Given the description of an element on the screen output the (x, y) to click on. 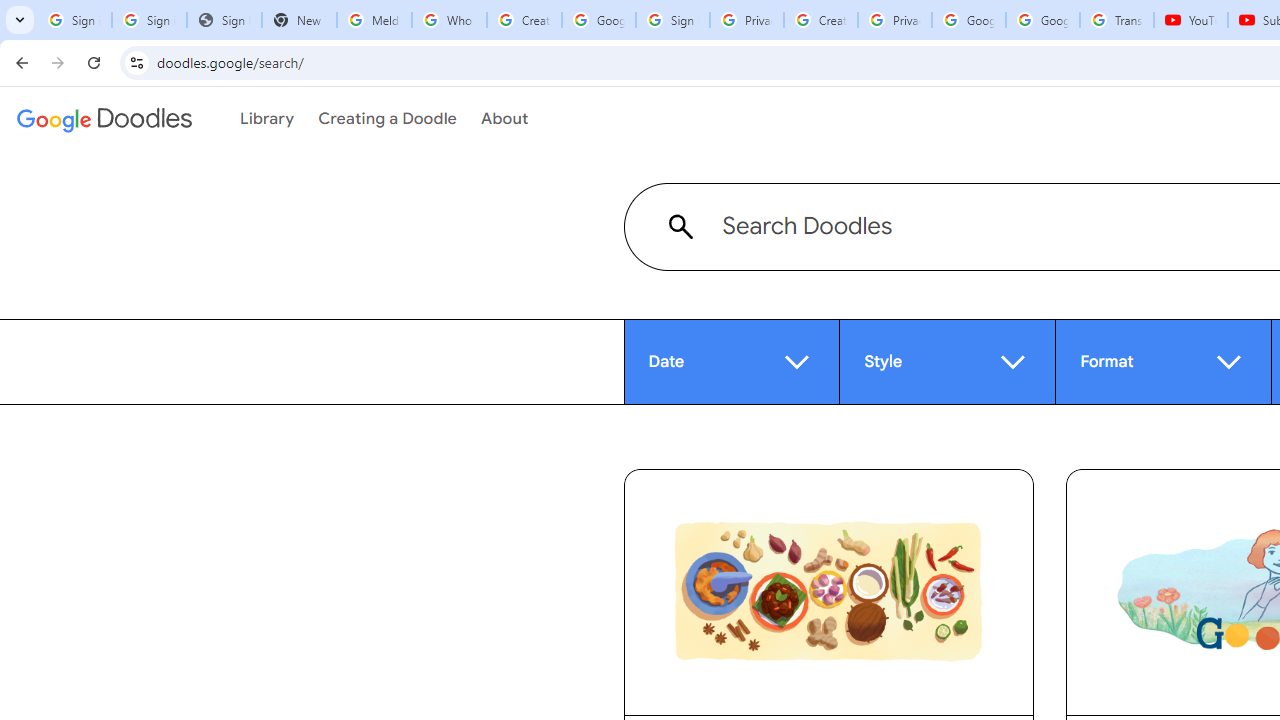
Sign in - Google Accounts (148, 20)
About (504, 119)
Create your Google Account (523, 20)
New Tab (299, 20)
Style (947, 361)
Sign in - Google Accounts (74, 20)
Library (267, 119)
Google doodles (104, 119)
YouTube (1190, 20)
Creating a Doodle (387, 119)
